Given the description of an element on the screen output the (x, y) to click on. 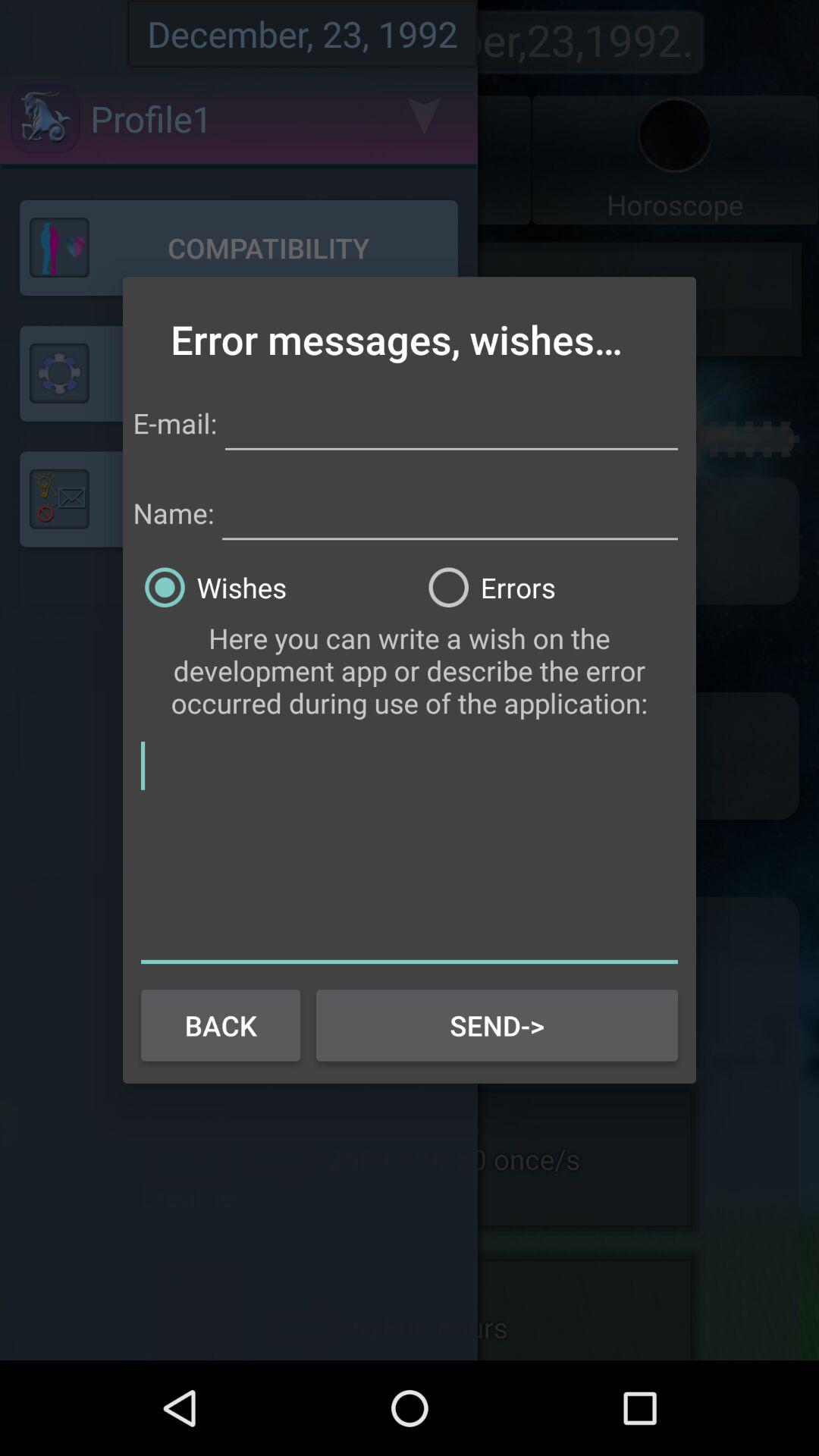
type text (451, 420)
